Given the description of an element on the screen output the (x, y) to click on. 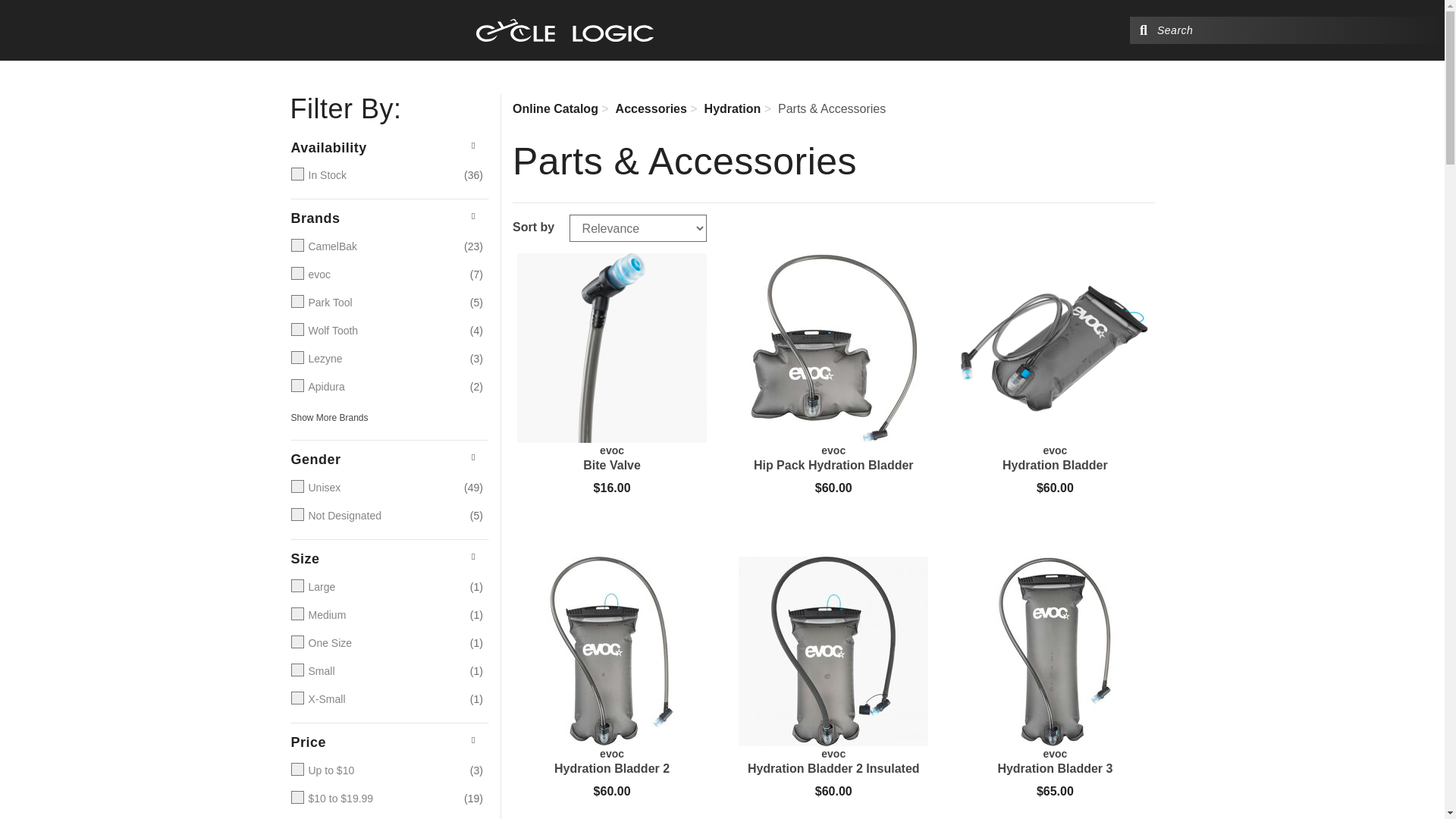
evoc Hydration Bladder (1054, 458)
evoc Hip Pack Hydration Bladder (833, 348)
evoc Hip Pack Hydration Bladder (833, 458)
evoc Hydration Bladder (1054, 348)
Cycle Logic Home Page (564, 29)
Search (1143, 30)
evoc Bite Valve (611, 348)
evoc Bite Valve (611, 458)
